Given the description of an element on the screen output the (x, y) to click on. 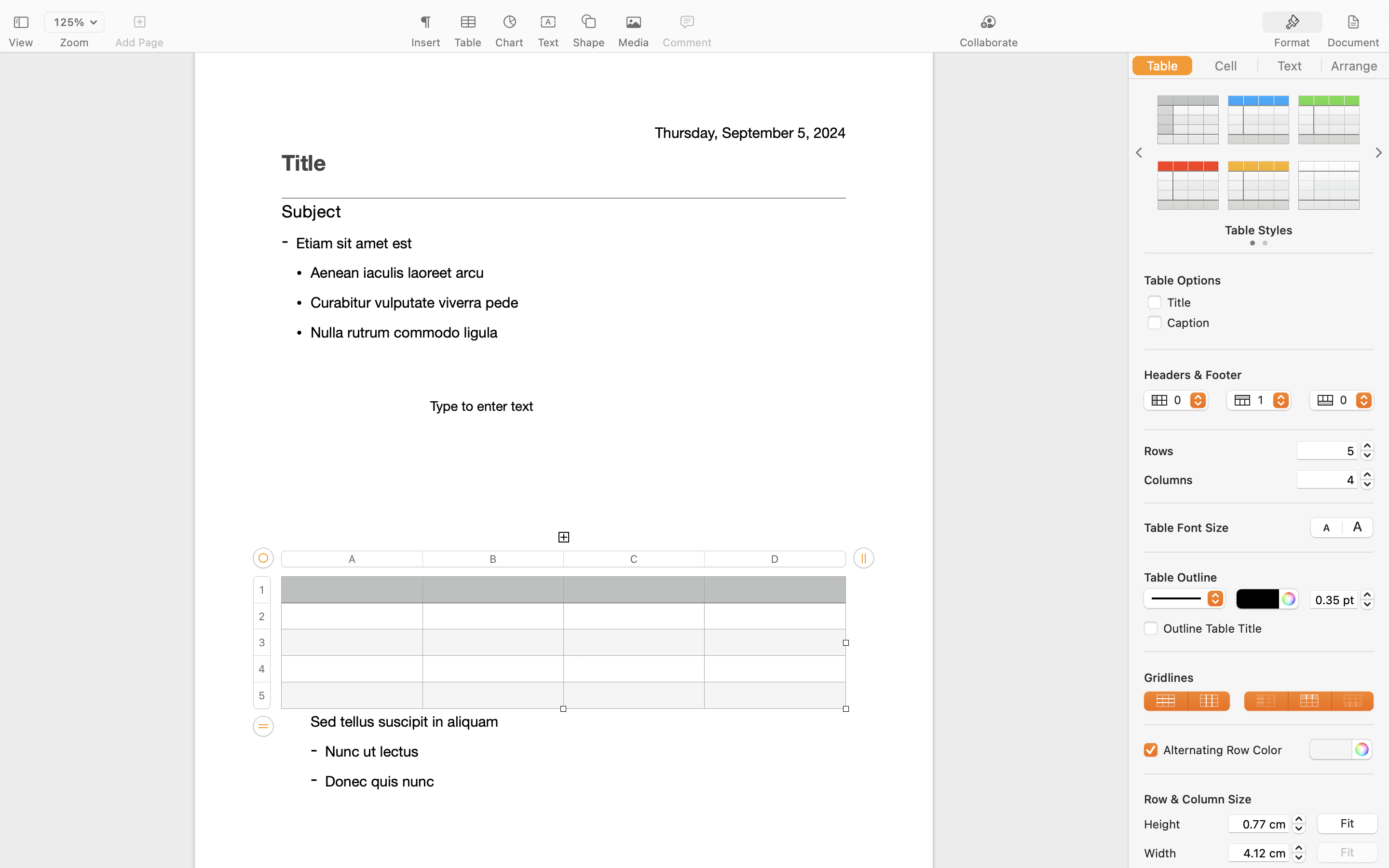
0.35 pt Element type: AXTextField (1333, 598)
Table Outline Element type: AXStaticText (1180, 576)
<AXUIElement 0x2a7e7b5e0> {pid=1482} Element type: AXGroup (1322, 22)
116.9125000014901 Element type: AXIncrementor (1298, 852)
